Given the description of an element on the screen output the (x, y) to click on. 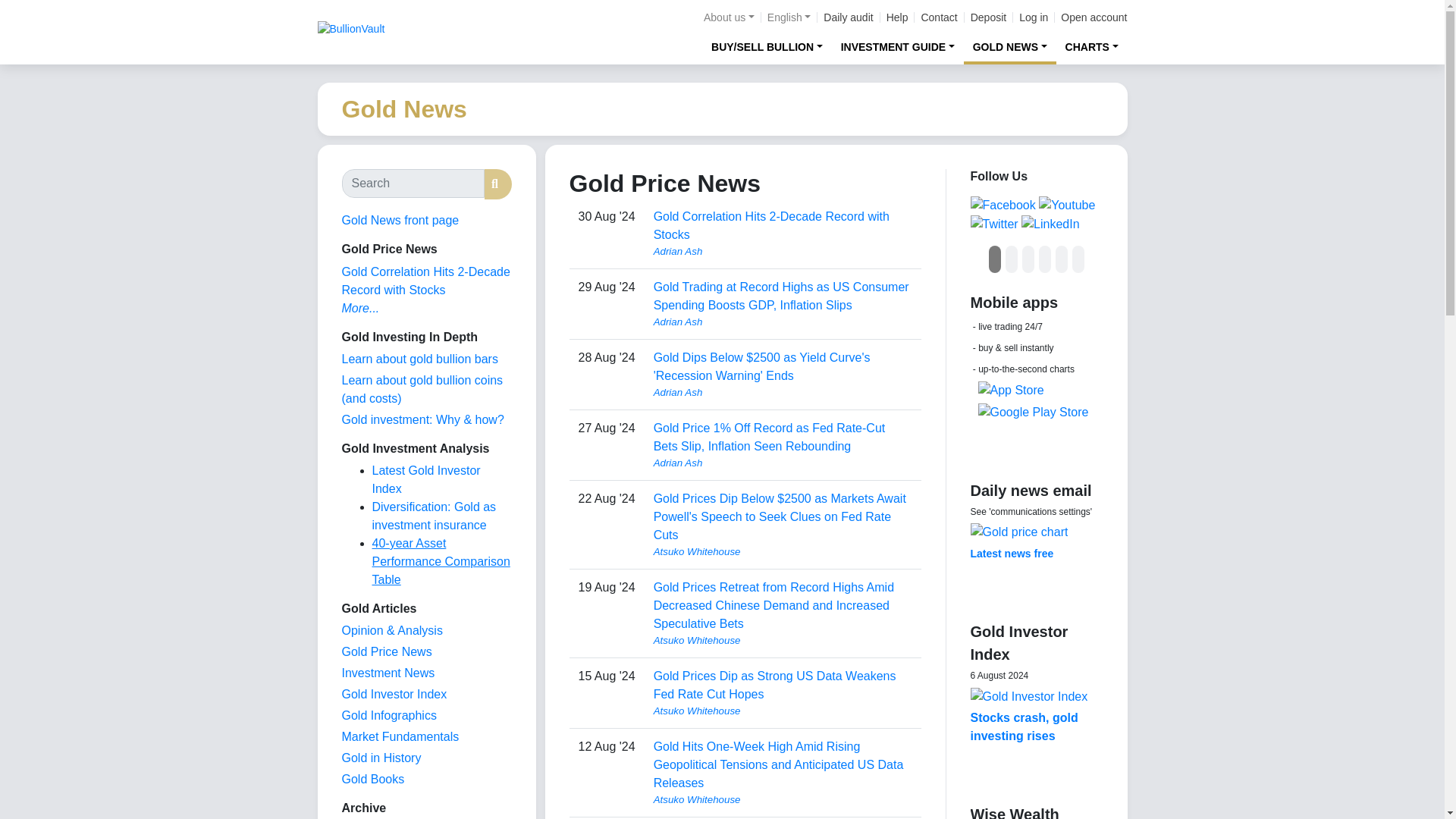
Investment News (386, 672)
View user profile. (782, 322)
View user profile. (782, 640)
Books about Gold Reviewed (372, 779)
Gold Price News (385, 651)
Market Fundamentals (399, 736)
Log in (1033, 17)
Gold Investor Index (393, 694)
Deposit (988, 17)
The View from the Vault (391, 630)
